Given the description of an element on the screen output the (x, y) to click on. 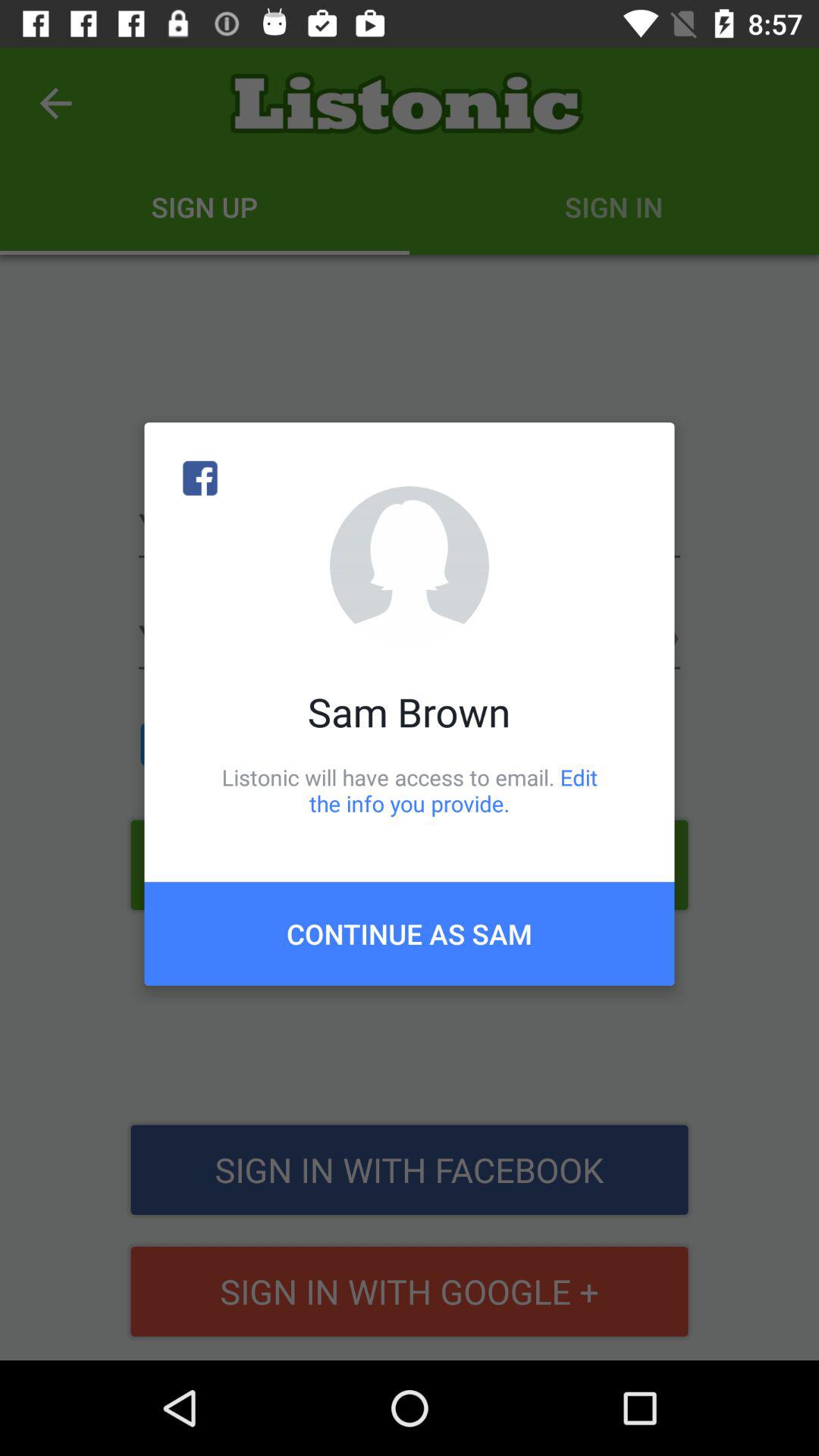
choose item above continue as sam icon (409, 790)
